Given the description of an element on the screen output the (x, y) to click on. 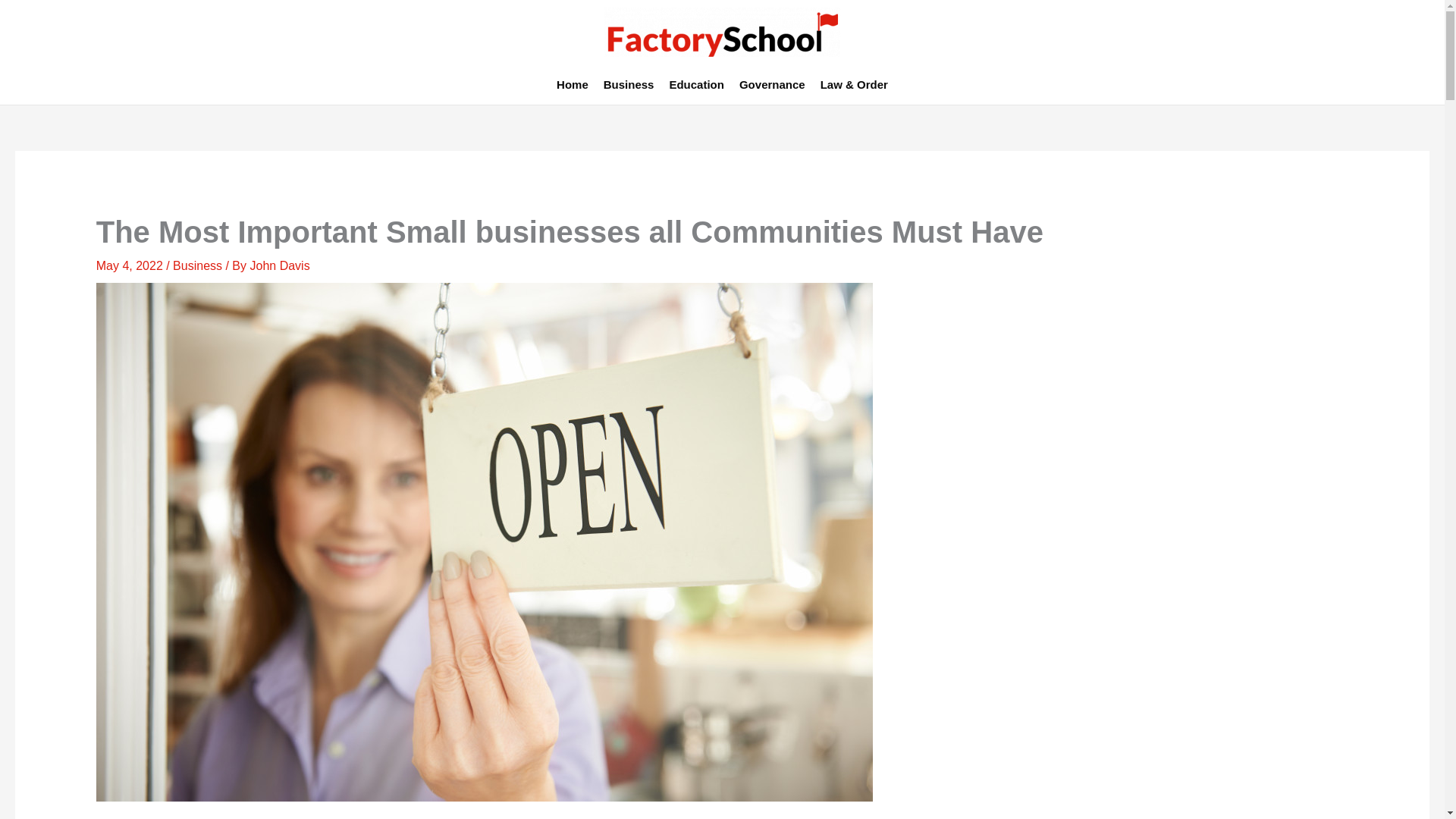
John Davis (278, 265)
Business (197, 265)
Governance (772, 84)
Education (696, 84)
View all posts by John Davis (278, 265)
Home (571, 84)
Business (628, 84)
factoryschool-logo (722, 31)
